Given the description of an element on the screen output the (x, y) to click on. 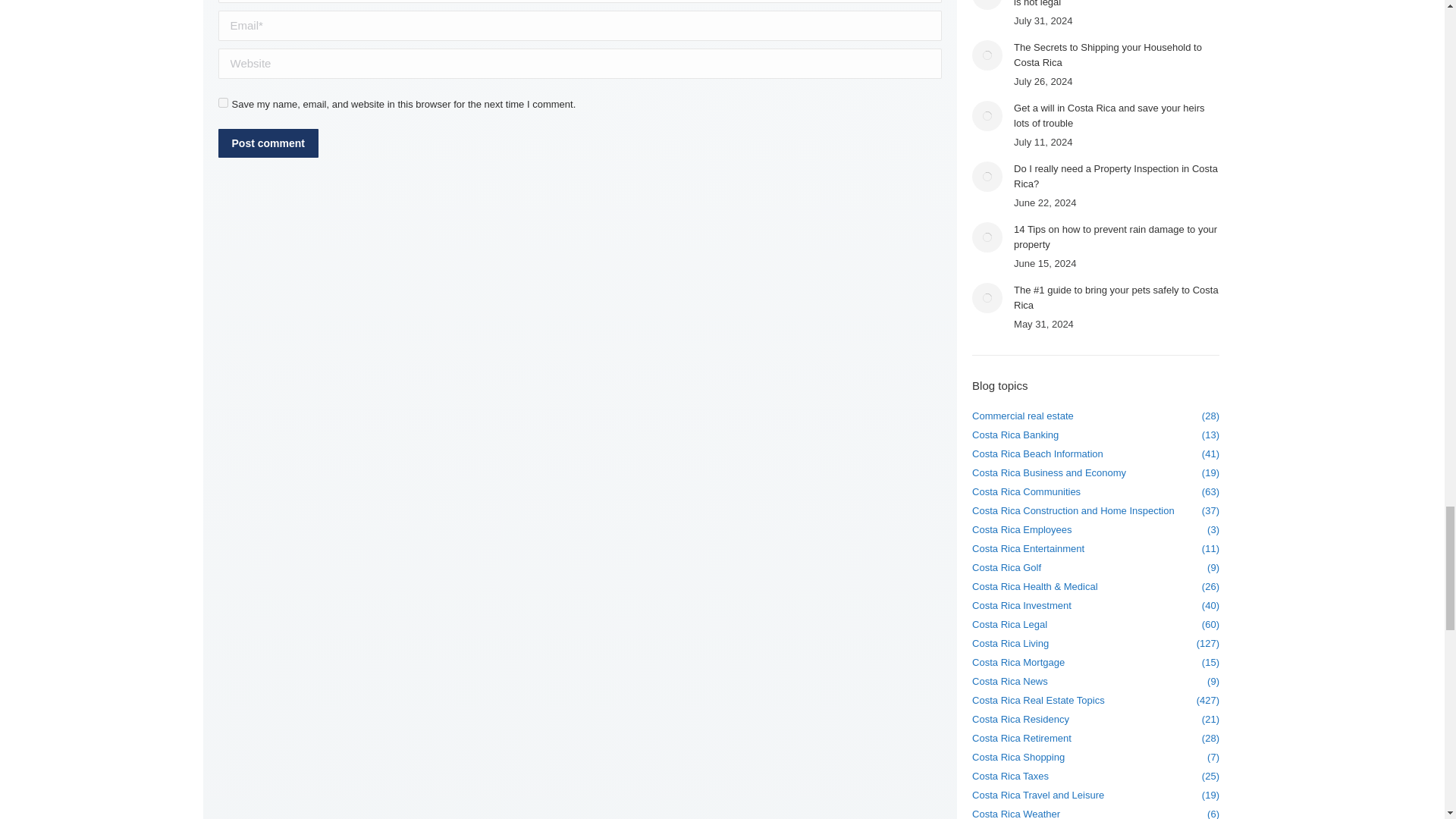
yes (223, 102)
